Given the description of an element on the screen output the (x, y) to click on. 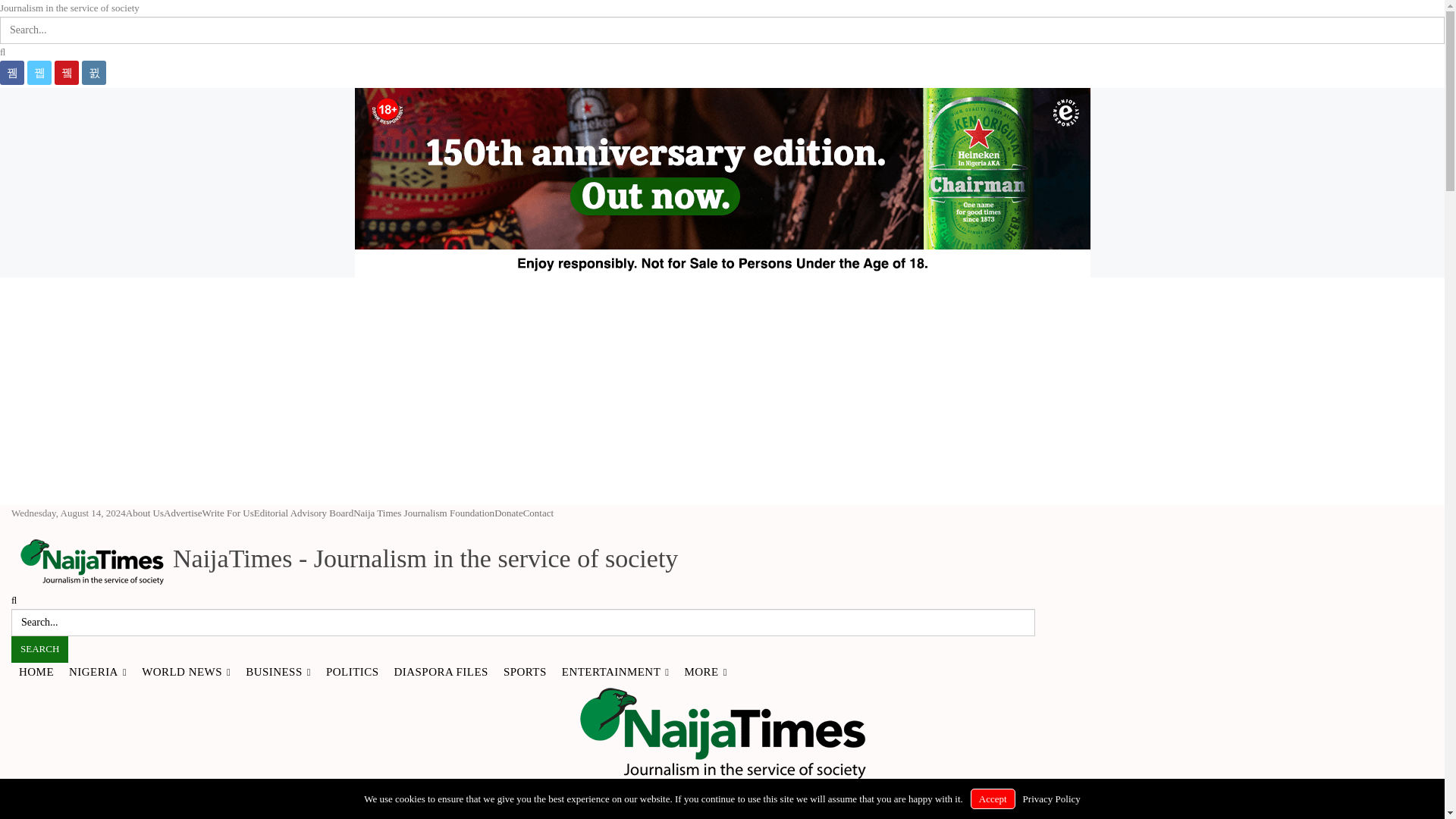
Editorial Advisory Board (303, 512)
Naija Times Journalism Foundation (424, 512)
About Us (144, 512)
Search for: (523, 622)
Donate (508, 512)
Write For Us (227, 512)
NIGERIA (97, 671)
Contact (537, 512)
Search (39, 648)
